Given the description of an element on the screen output the (x, y) to click on. 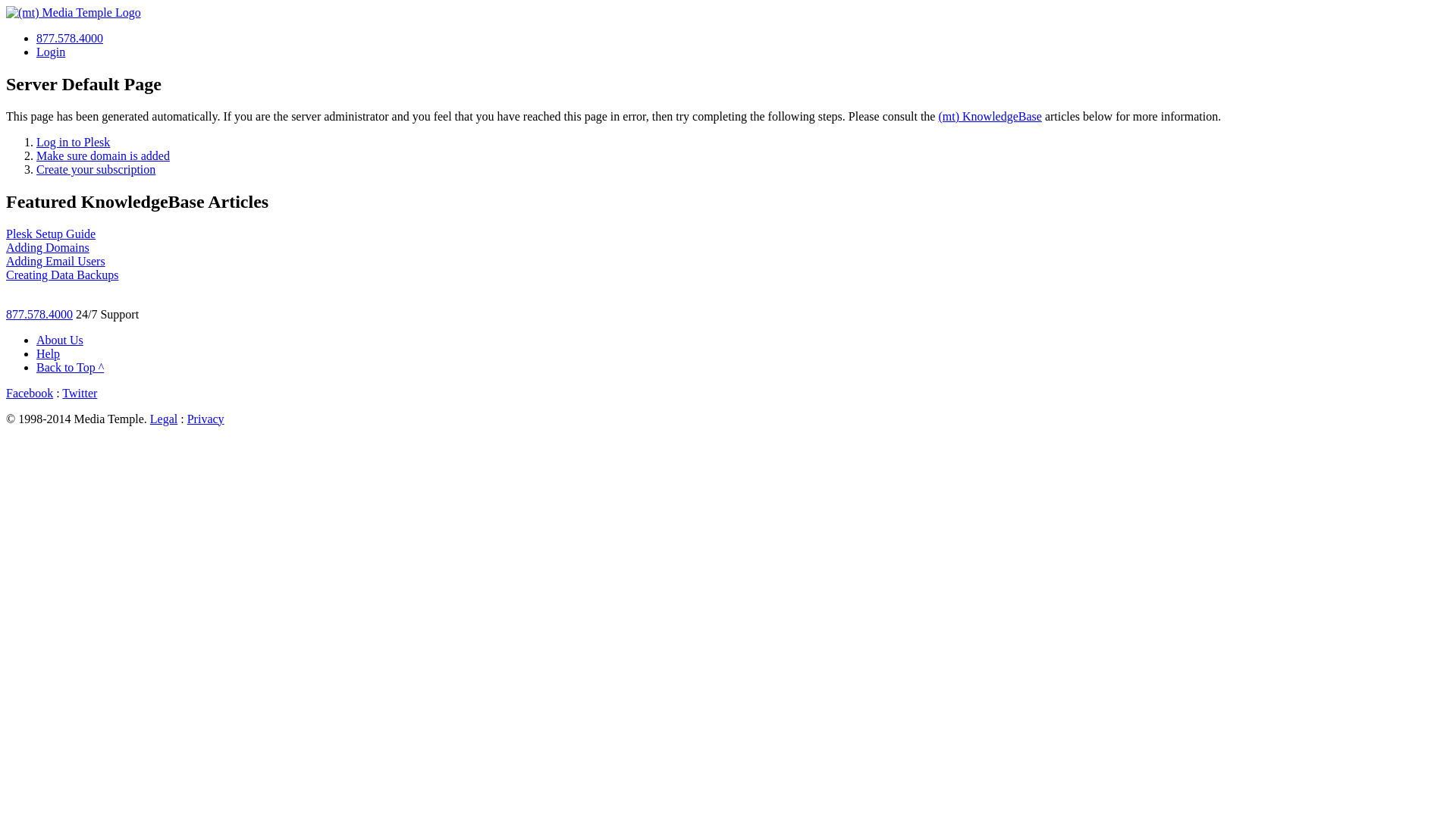
Adding Email Users Element type: text (55, 260)
877.578.4000 Element type: text (69, 37)
Creating Data Backups Element type: text (62, 274)
Back to Top ^ Element type: text (69, 366)
Make sure domain is added Element type: text (102, 155)
Plesk Setup Guide Element type: text (50, 233)
(mt) KnowledgeBase Element type: text (989, 115)
Legal Element type: text (163, 418)
Twitter Element type: text (79, 392)
Create your subscription Element type: text (95, 169)
Log in to Plesk Element type: text (72, 141)
About Us Element type: text (59, 339)
Privacy Element type: text (205, 418)
Adding Domains Element type: text (47, 247)
Facebook Element type: text (29, 392)
Login Element type: text (50, 51)
877.578.4000 Element type: text (39, 313)
Help Element type: text (47, 353)
